Given the description of an element on the screen output the (x, y) to click on. 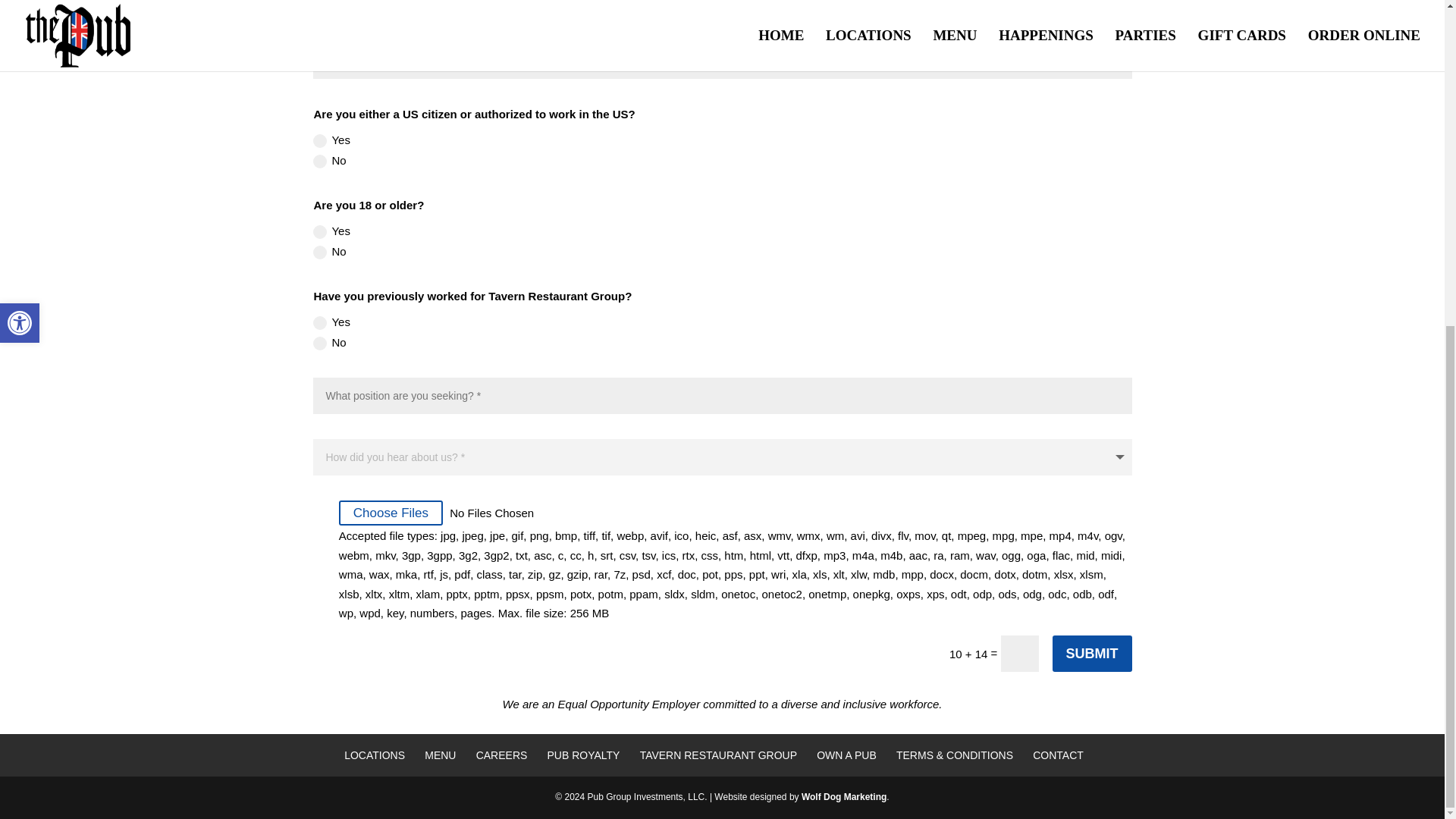
SUBMIT (1092, 653)
Wolf Dog Marketing (844, 796)
PUB ROYALTY (583, 755)
LOCATIONS (373, 755)
CONTACT (1057, 755)
OWN A PUB (846, 755)
MENU (440, 755)
CAREERS (501, 755)
Wolf Dog Marketing (844, 796)
TAVERN RESTAURANT GROUP (718, 755)
